Given the description of an element on the screen output the (x, y) to click on. 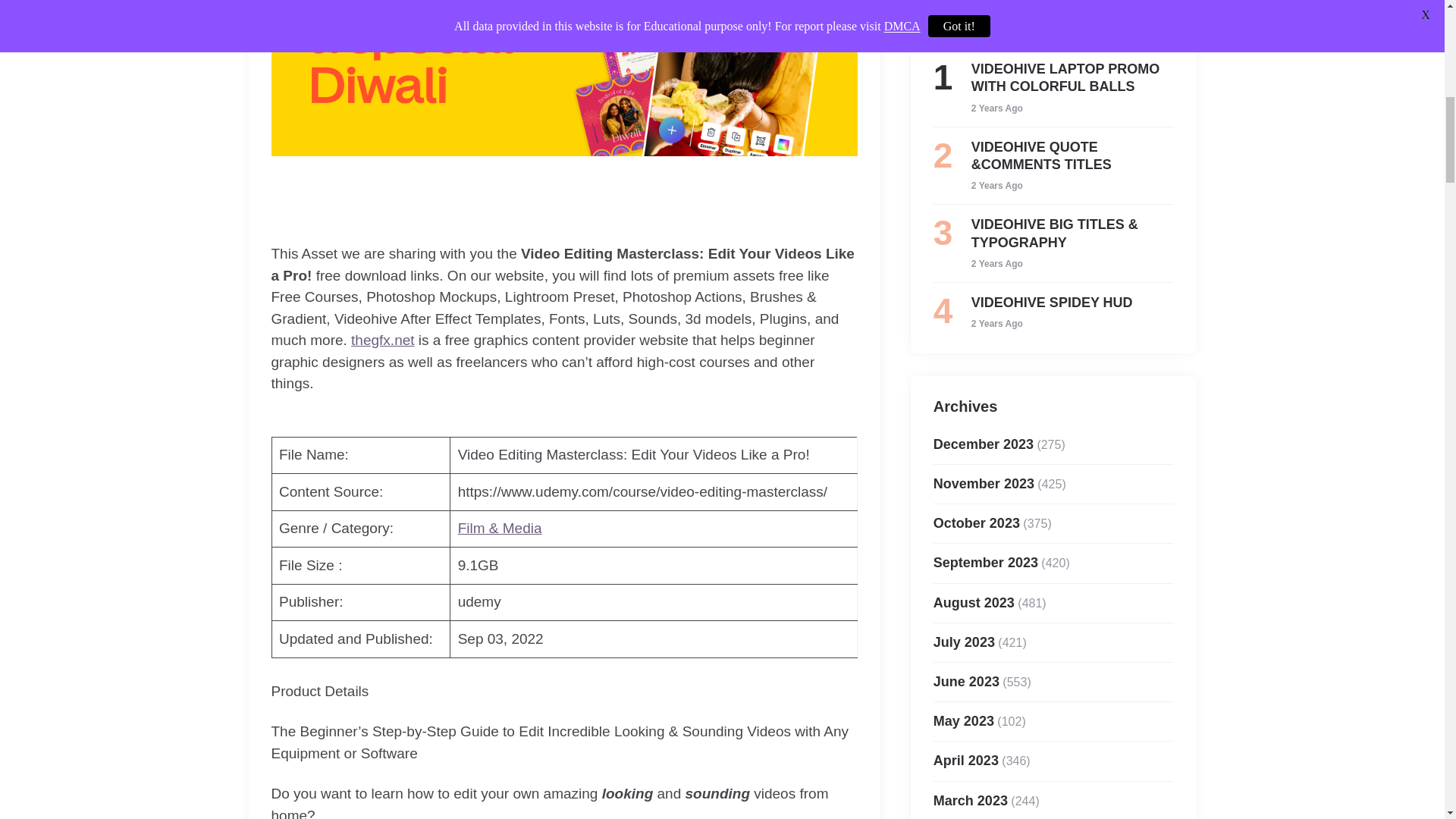
Video Editing Masterclass: Edit Your Videos Like a Pro! 82 (563, 78)
